Given the description of an element on the screen output the (x, y) to click on. 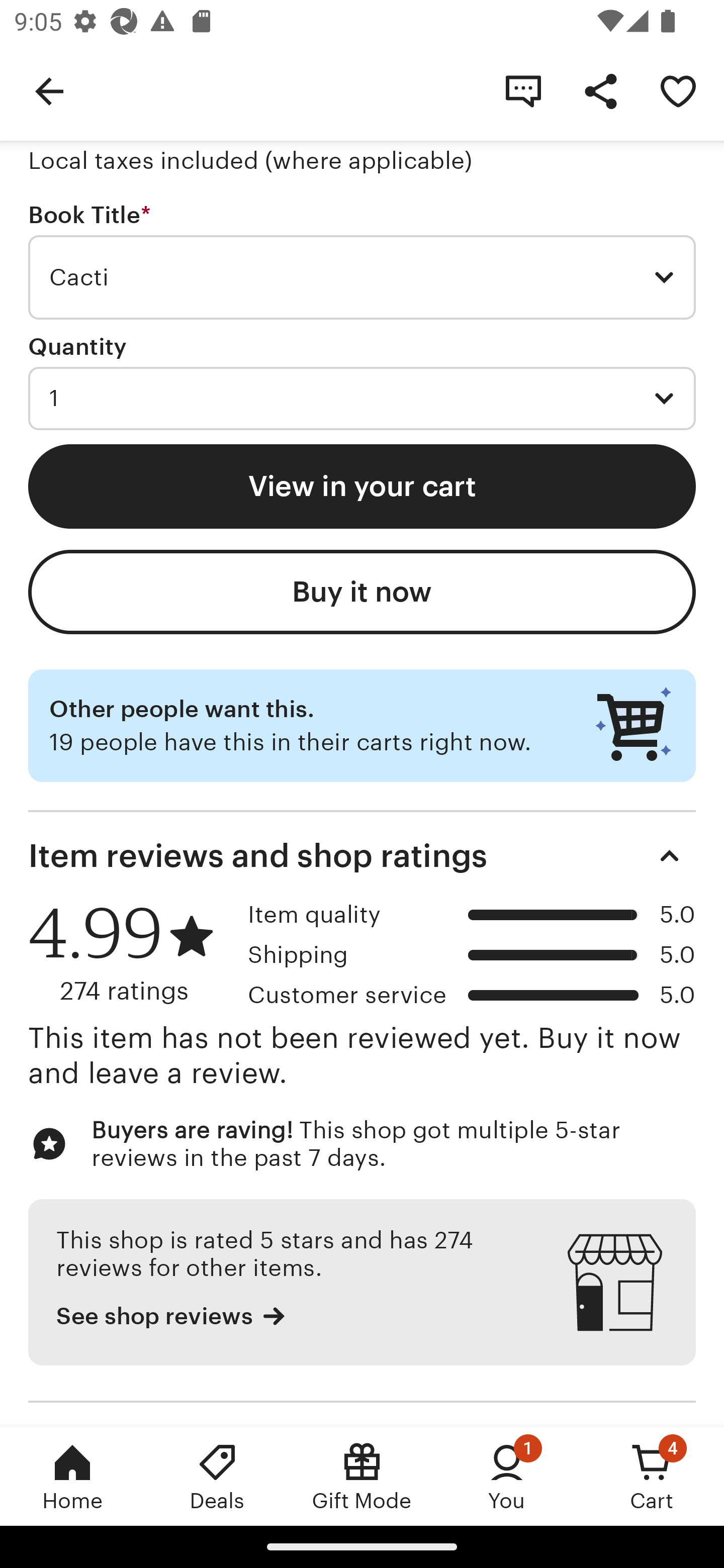
Navigate up (49, 90)
Contact shop (523, 90)
Share (600, 90)
Book Title * Required Cacti (361, 260)
Cacti (361, 277)
Quantity (77, 346)
1 (361, 397)
View in your cart (361, 485)
Buy it now (361, 591)
Item reviews and shop ratings (362, 855)
4.99 274 ratings (130, 953)
Deals (216, 1475)
Gift Mode (361, 1475)
You, 1 new notification You (506, 1475)
Cart, 4 new notifications Cart (651, 1475)
